Given the description of an element on the screen output the (x, y) to click on. 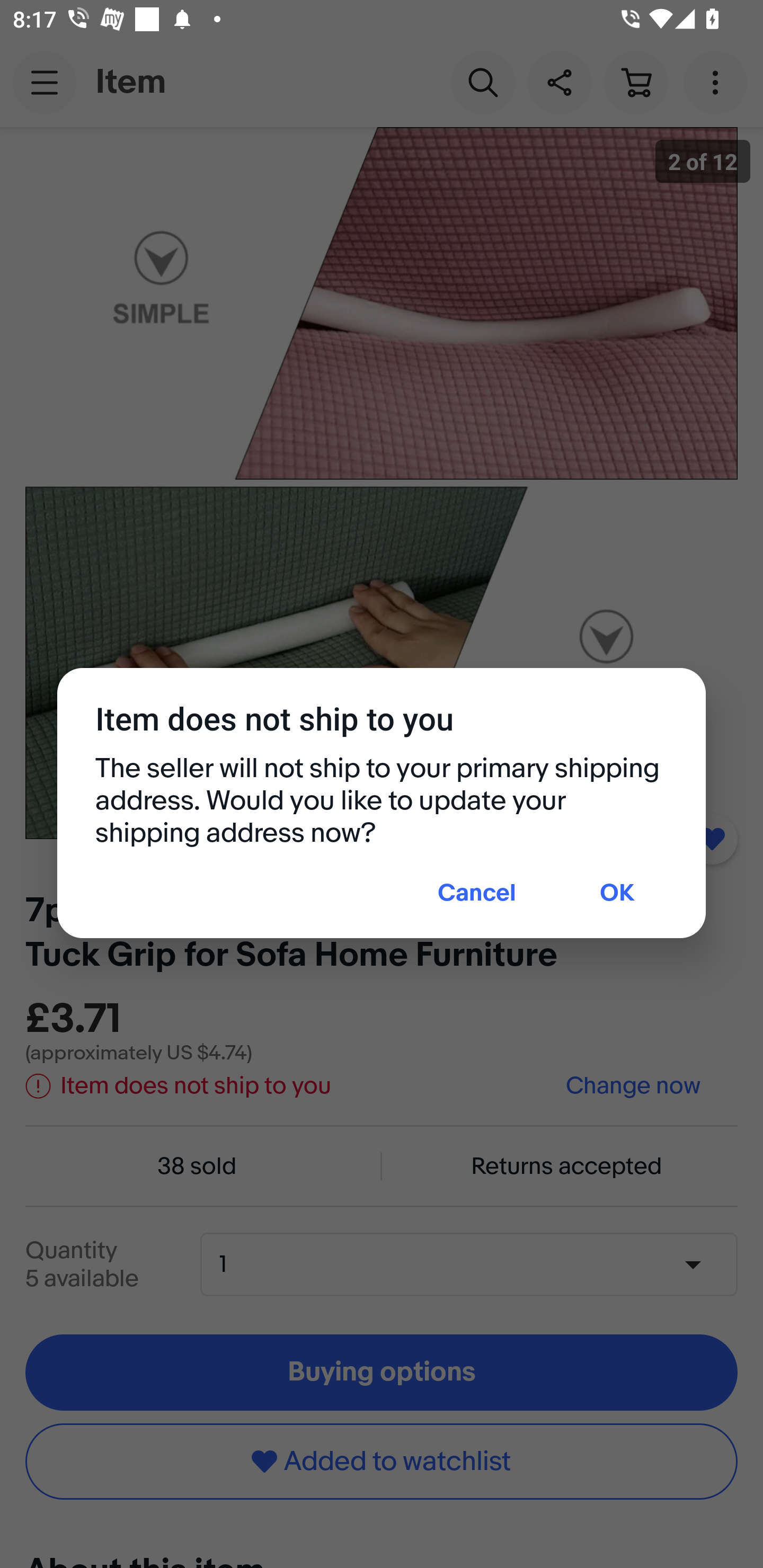
Cancel (476, 893)
OK (616, 893)
